Given the description of an element on the screen output the (x, y) to click on. 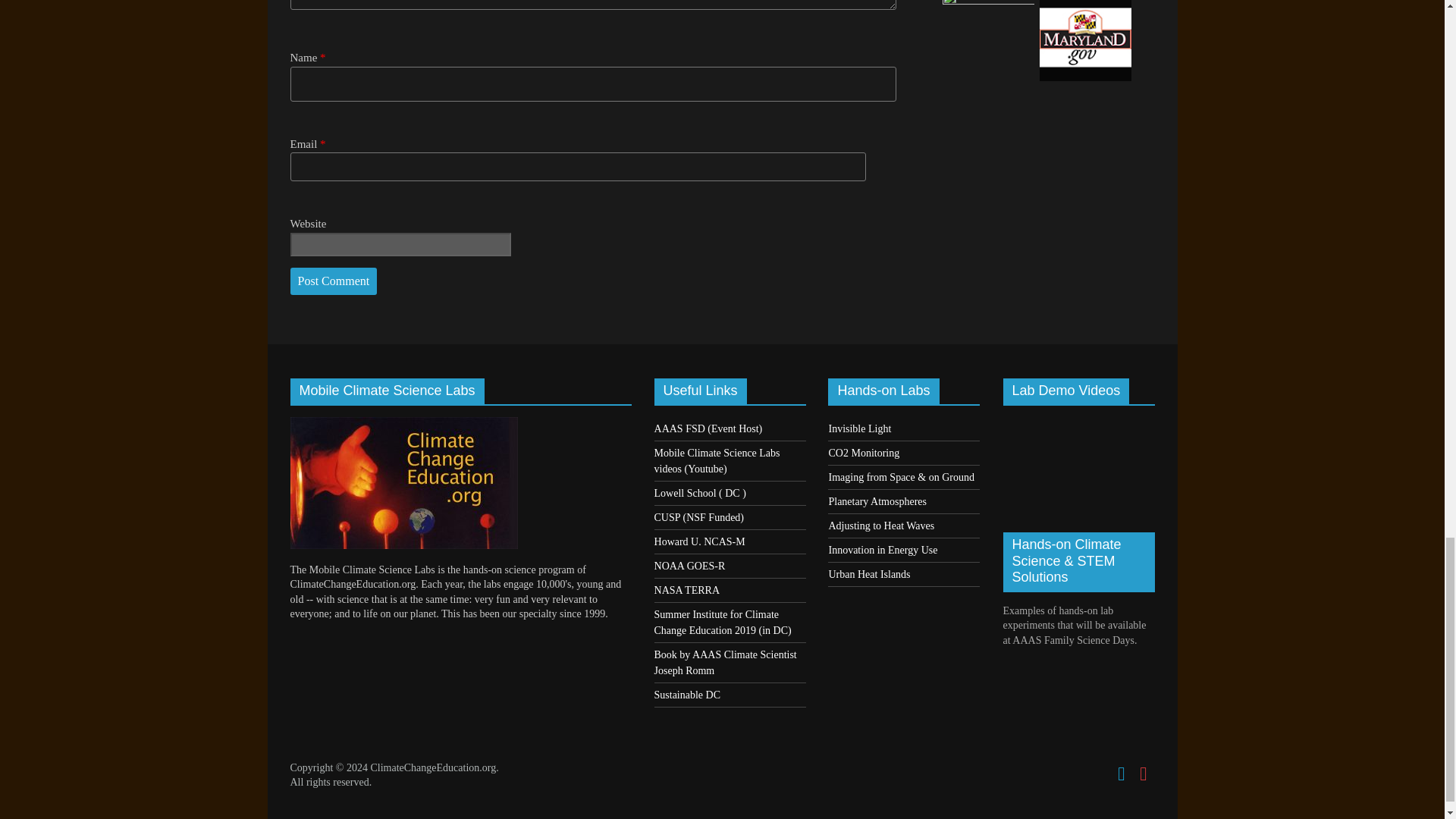
Post Comment (333, 280)
logo (402, 423)
Post Comment (333, 280)
